Given the description of an element on the screen output the (x, y) to click on. 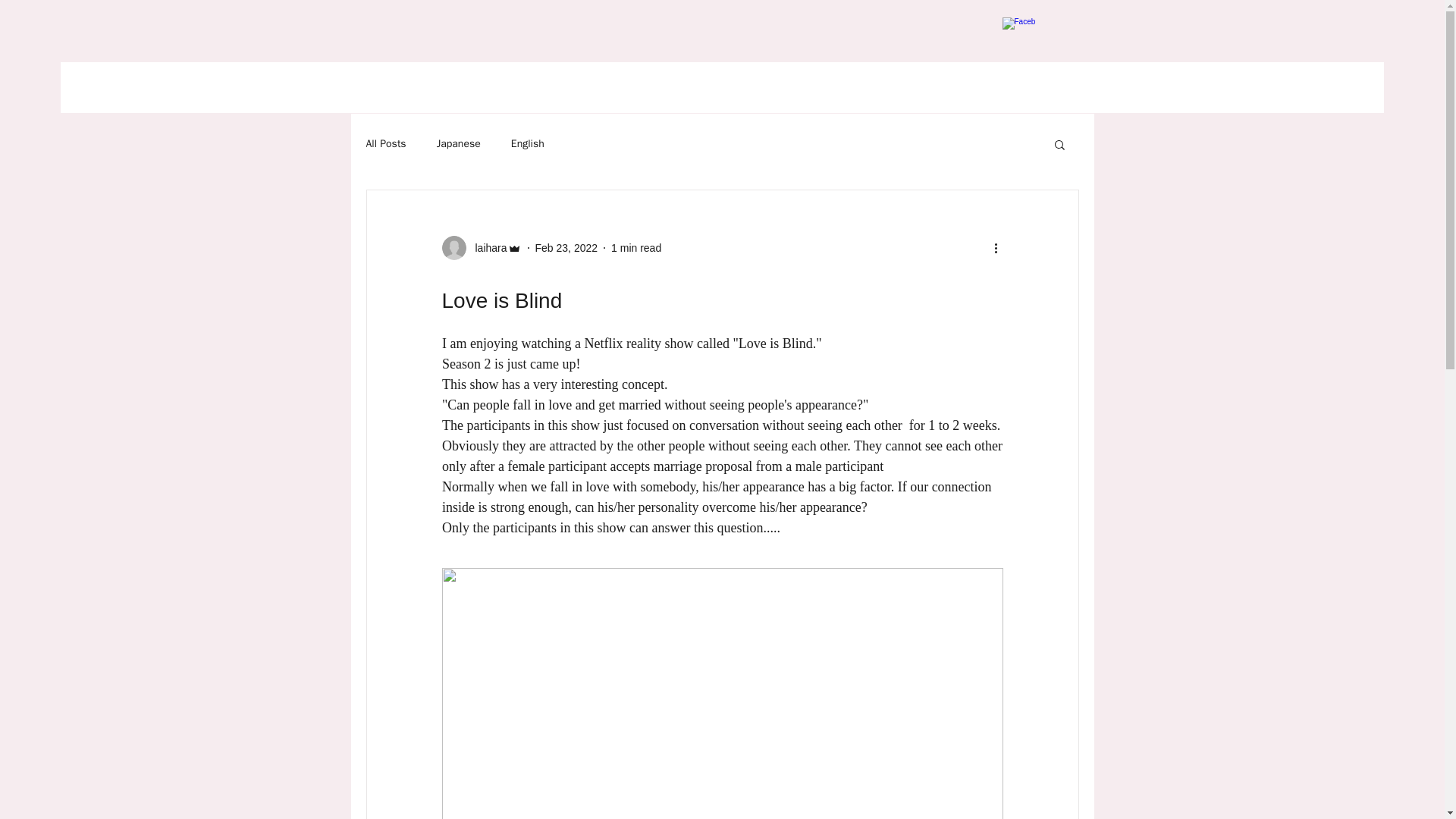
All Posts (385, 143)
laihara (481, 247)
English (527, 143)
laihara (485, 247)
1 min read (636, 246)
Japanese (458, 143)
Feb 23, 2022 (566, 246)
